Given the description of an element on the screen output the (x, y) to click on. 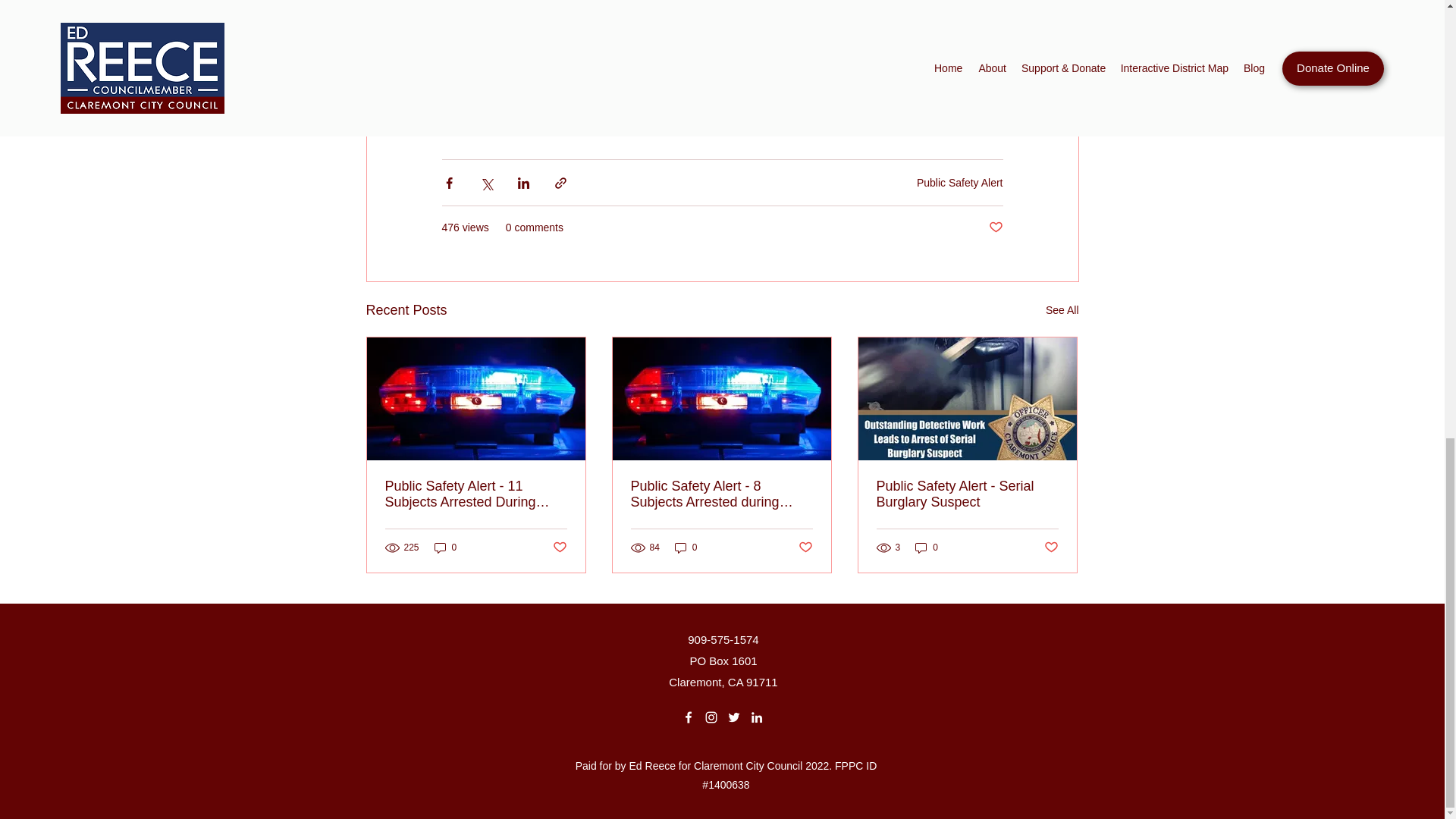
Post not marked as liked (804, 547)
0 (926, 547)
Post not marked as liked (558, 547)
Public Safety Alert (960, 182)
0 (445, 547)
Post not marked as liked (995, 227)
0 (685, 547)
Post not marked as liked (1050, 547)
